Given the description of an element on the screen output the (x, y) to click on. 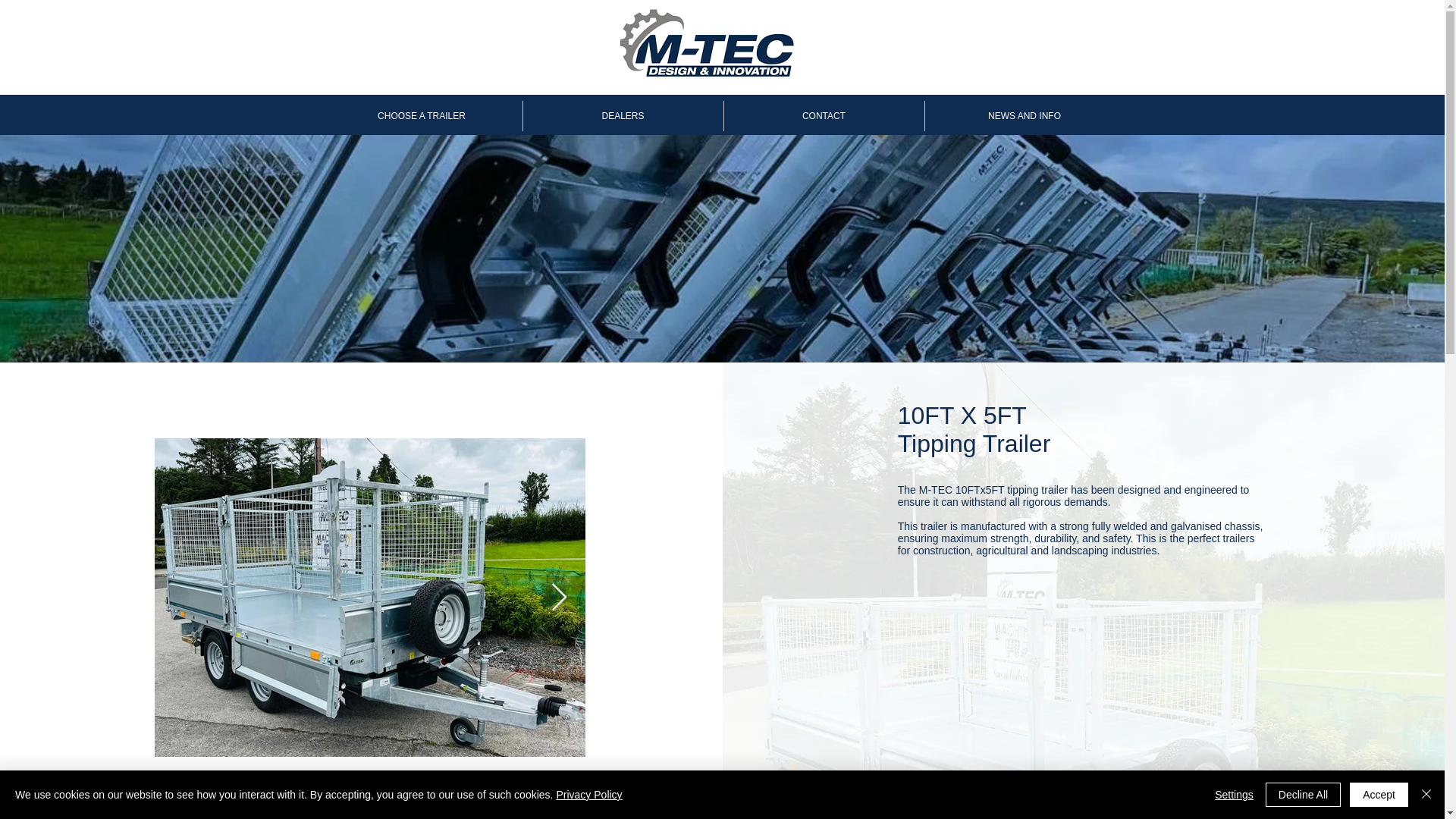
Accept (1378, 794)
Privacy Policy (588, 794)
CONTACT (823, 115)
Decline All (1302, 794)
